Given the description of an element on the screen output the (x, y) to click on. 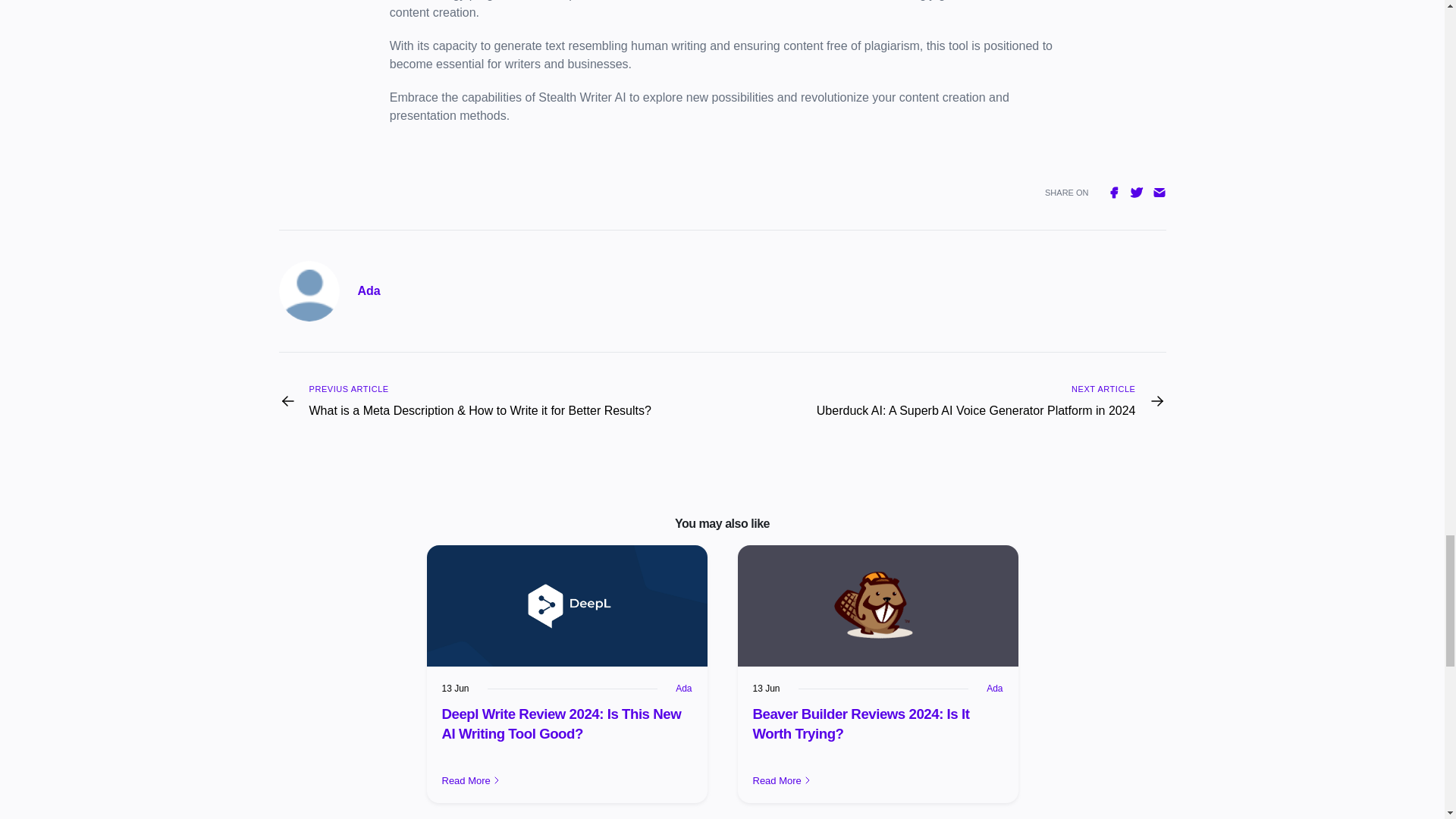
Read More (877, 780)
Ada (369, 290)
Deepl Write Review 2024: Is This New AI Writing Tool Good? (561, 723)
Ada (995, 688)
Ada (683, 688)
Read More (566, 780)
Beaver Builder Reviews 2024: Is It Worth Trying? (860, 723)
